Given the description of an element on the screen output the (x, y) to click on. 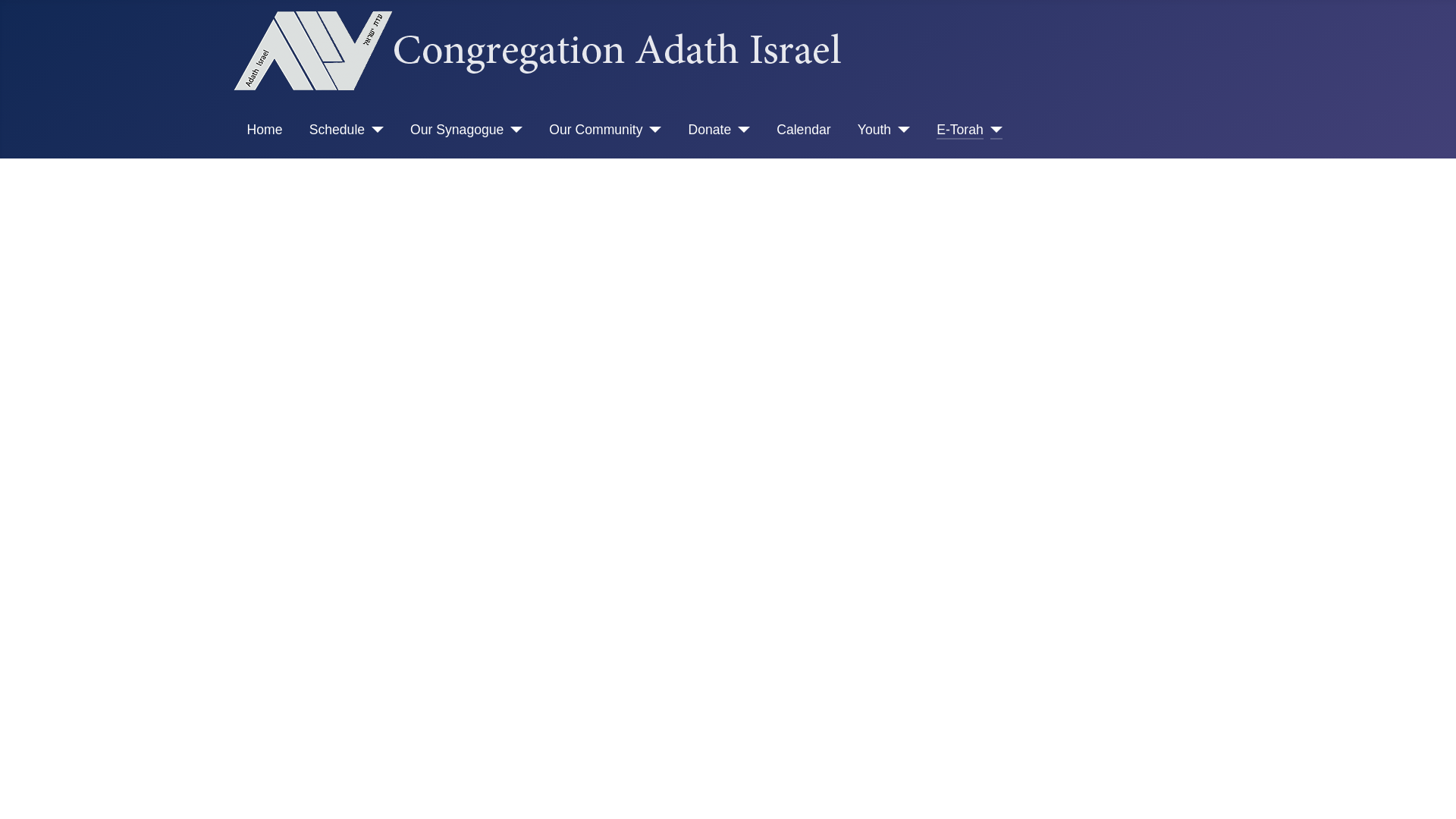
E-Torah (960, 129)
Home (264, 129)
Calendar (802, 129)
Schedule (336, 129)
Our Community (595, 129)
Donate (708, 129)
Youth (874, 129)
Our Synagogue (456, 129)
